Given the description of an element on the screen output the (x, y) to click on. 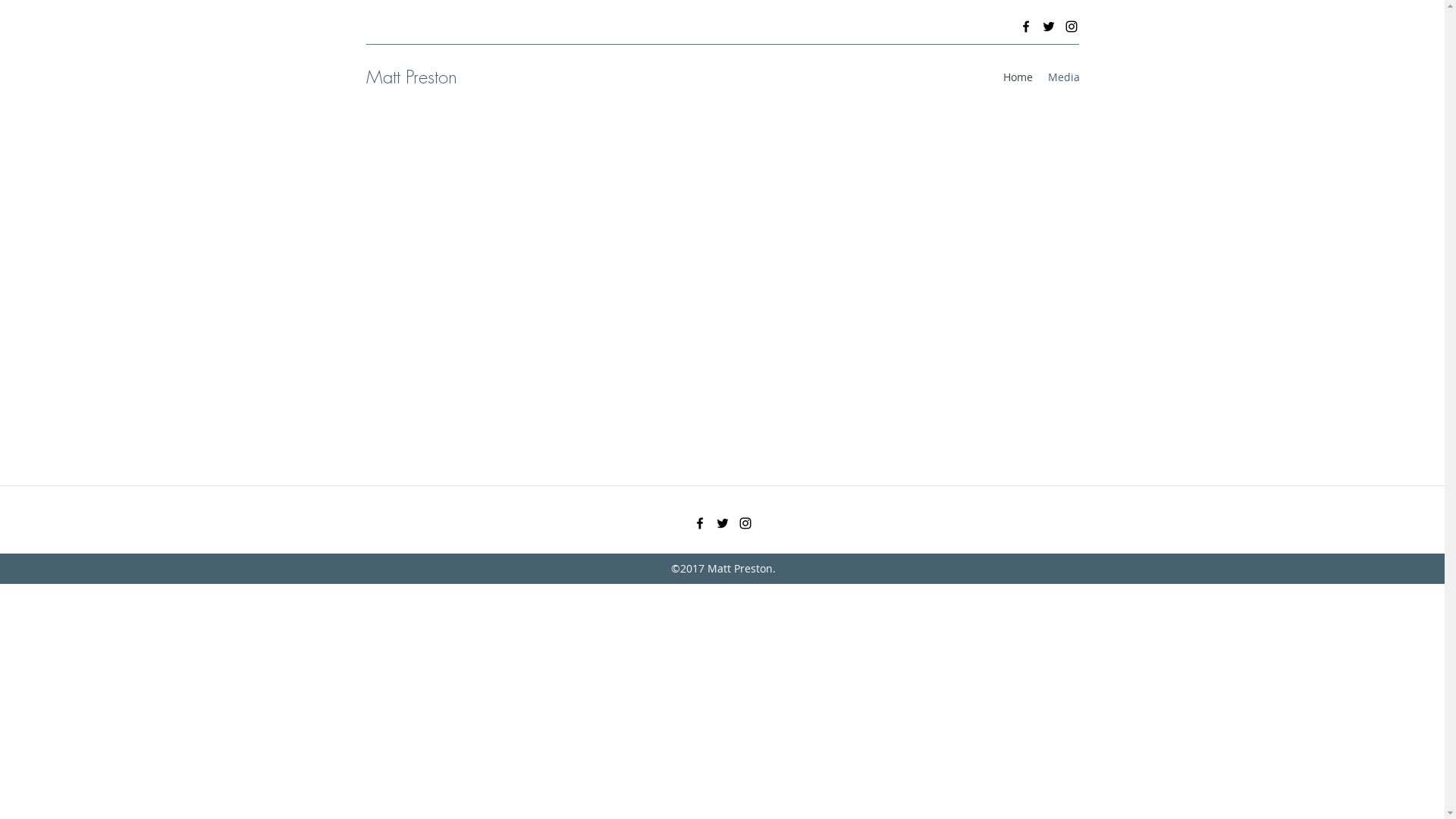
Home Element type: text (1016, 76)
Media Element type: text (1063, 76)
